Given the description of an element on the screen output the (x, y) to click on. 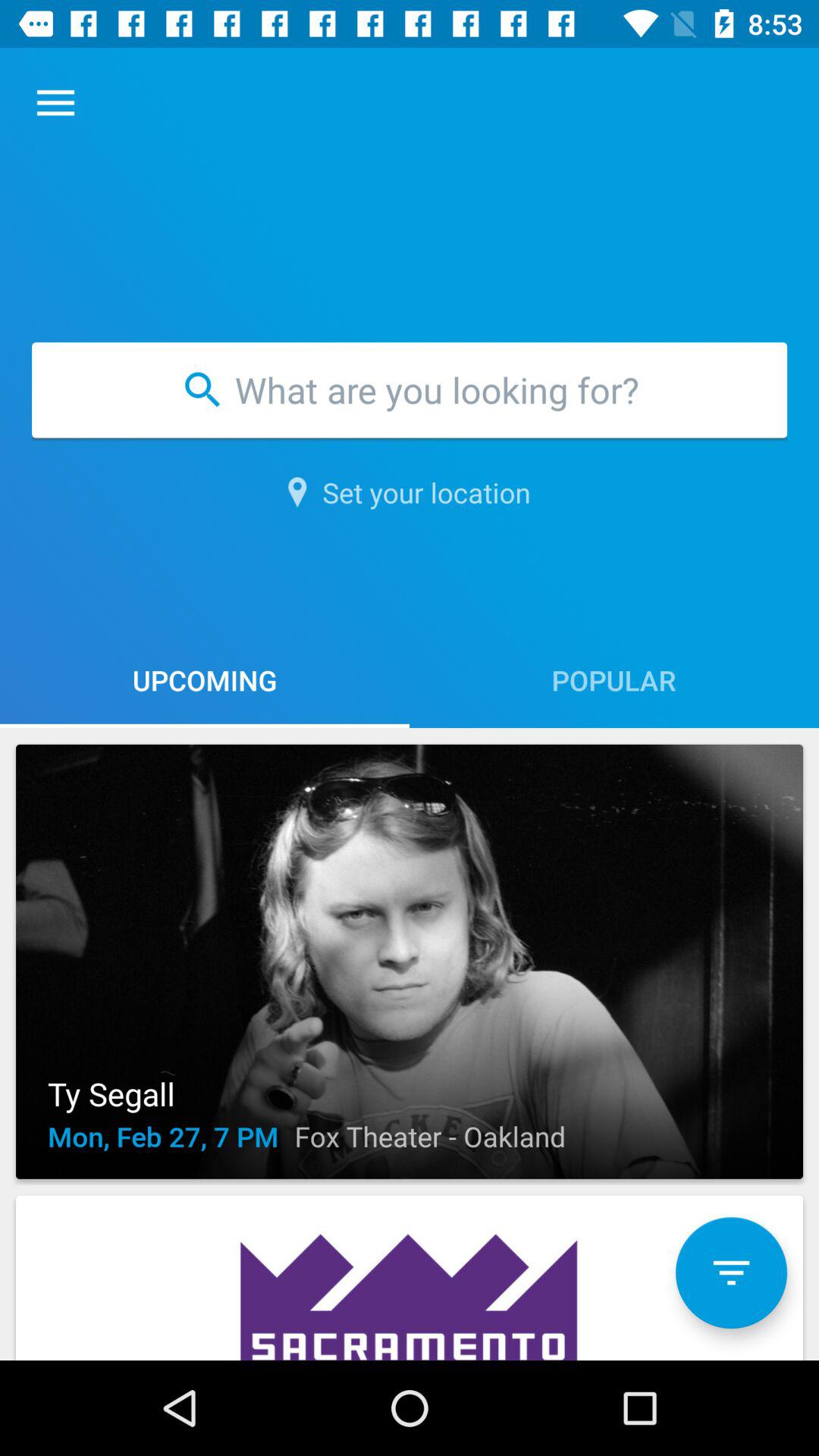
click the icon above the upcoming icon (409, 492)
